Given the description of an element on the screen output the (x, y) to click on. 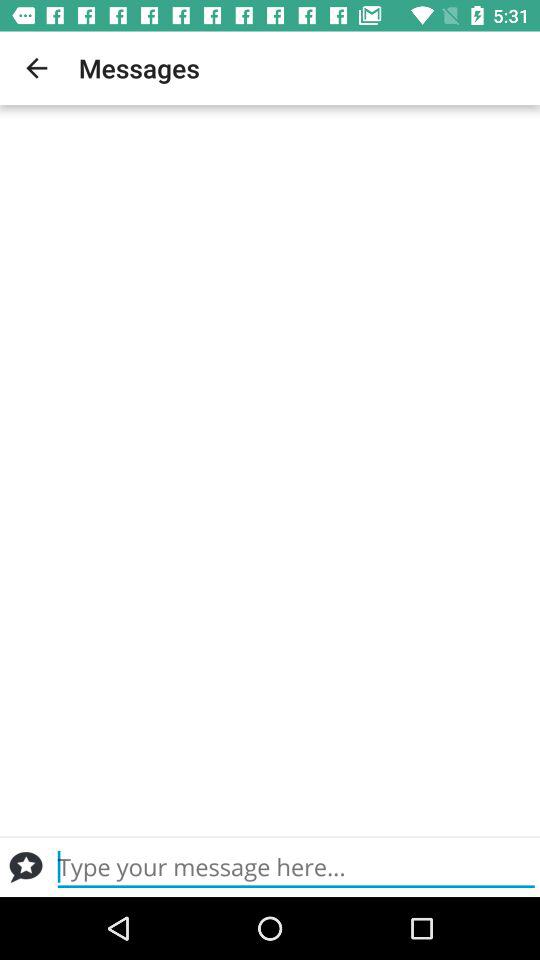
send a personal message (296, 867)
